Given the description of an element on the screen output the (x, y) to click on. 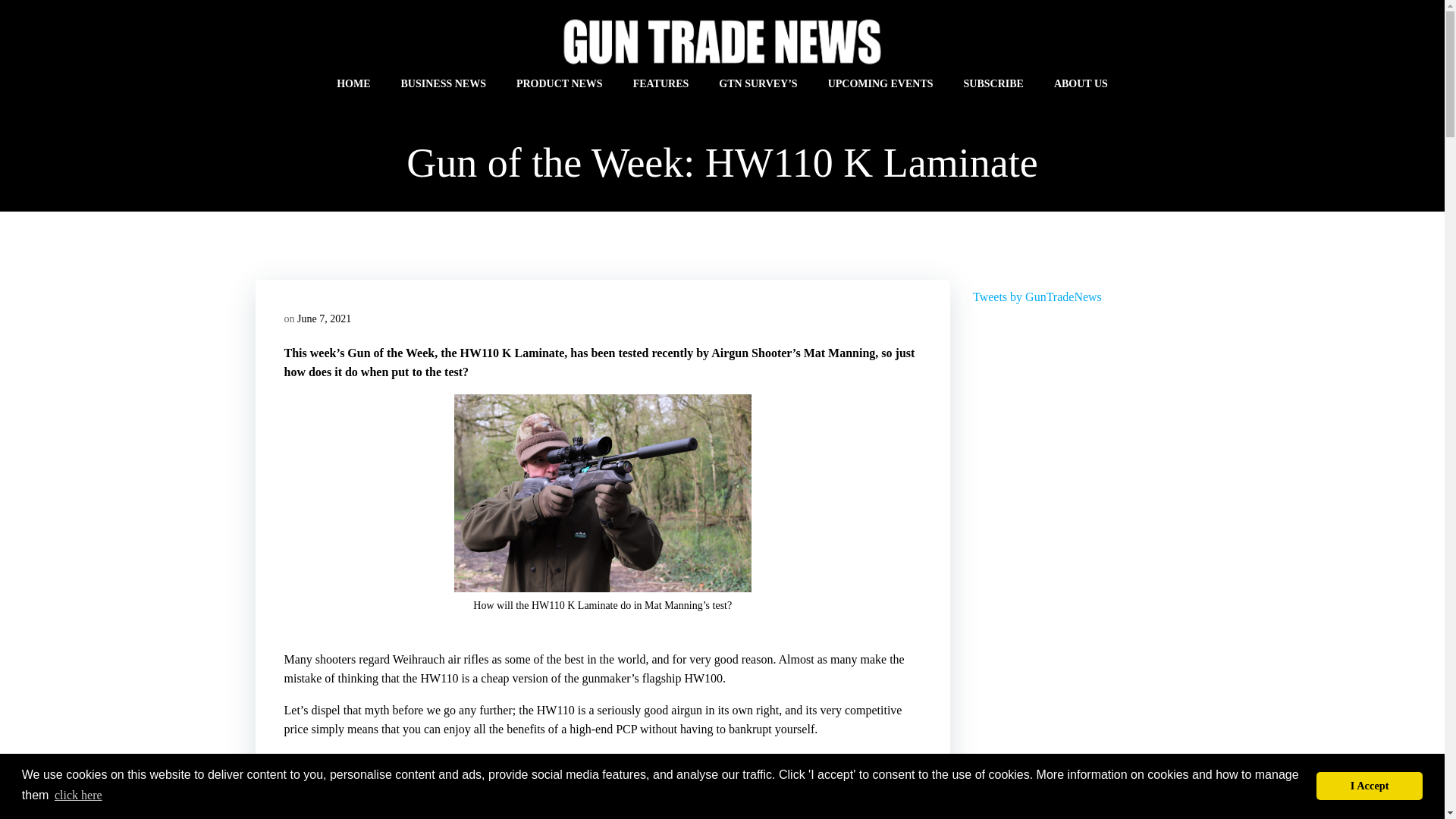
BUSINESS NEWS (442, 83)
Weihrauch (419, 658)
click here (78, 794)
Tweets by GunTradeNews (1037, 296)
UPCOMING EVENTS (880, 83)
HOME (352, 83)
PRODUCT NEWS (559, 83)
June 7, 2021 (323, 318)
SUBSCRIBE (993, 83)
ABOUT US (1081, 83)
FEATURES (660, 83)
I Accept (1369, 786)
